Given the description of an element on the screen output the (x, y) to click on. 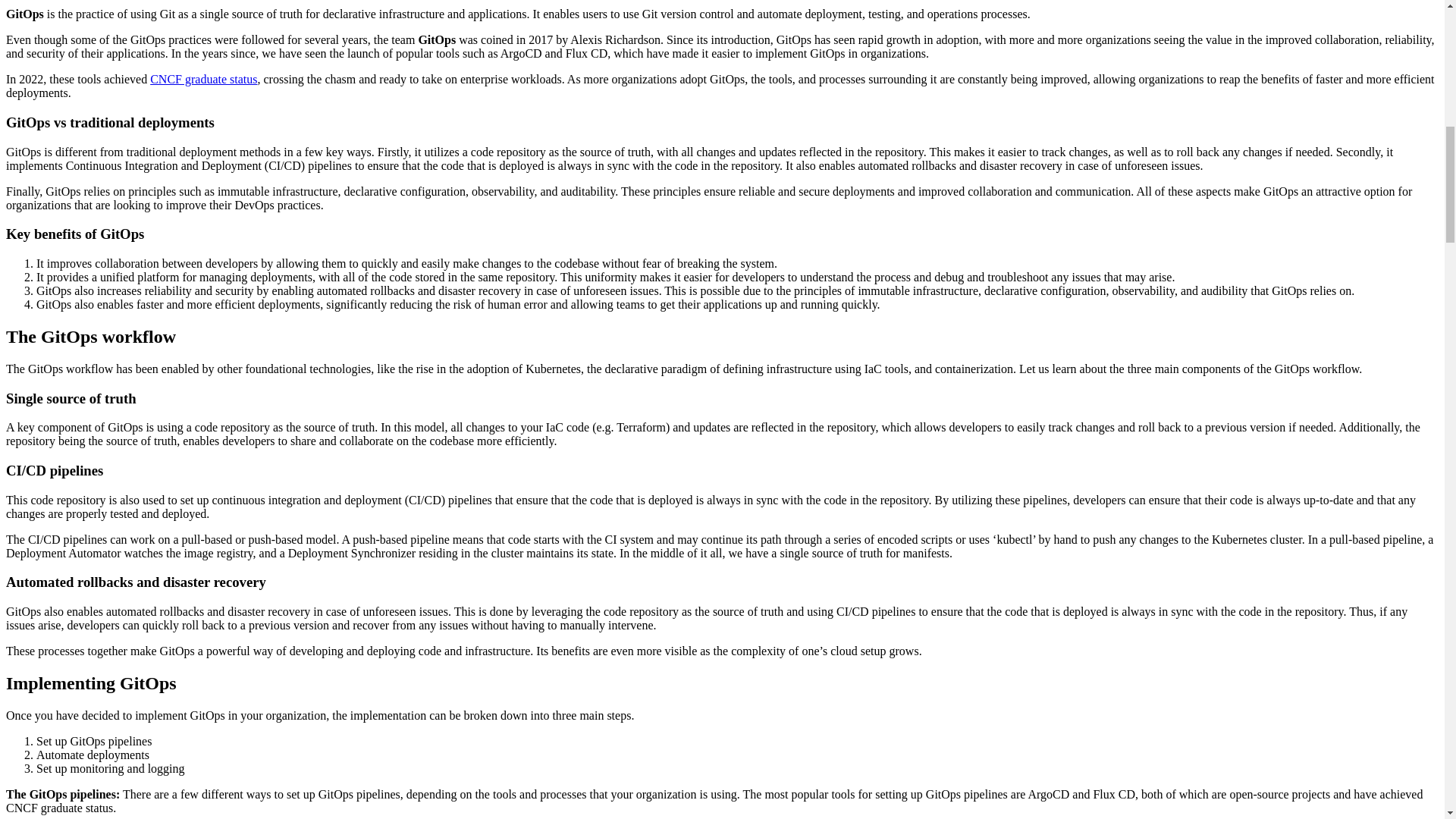
CNCF graduate status (203, 78)
